Given the description of an element on the screen output the (x, y) to click on. 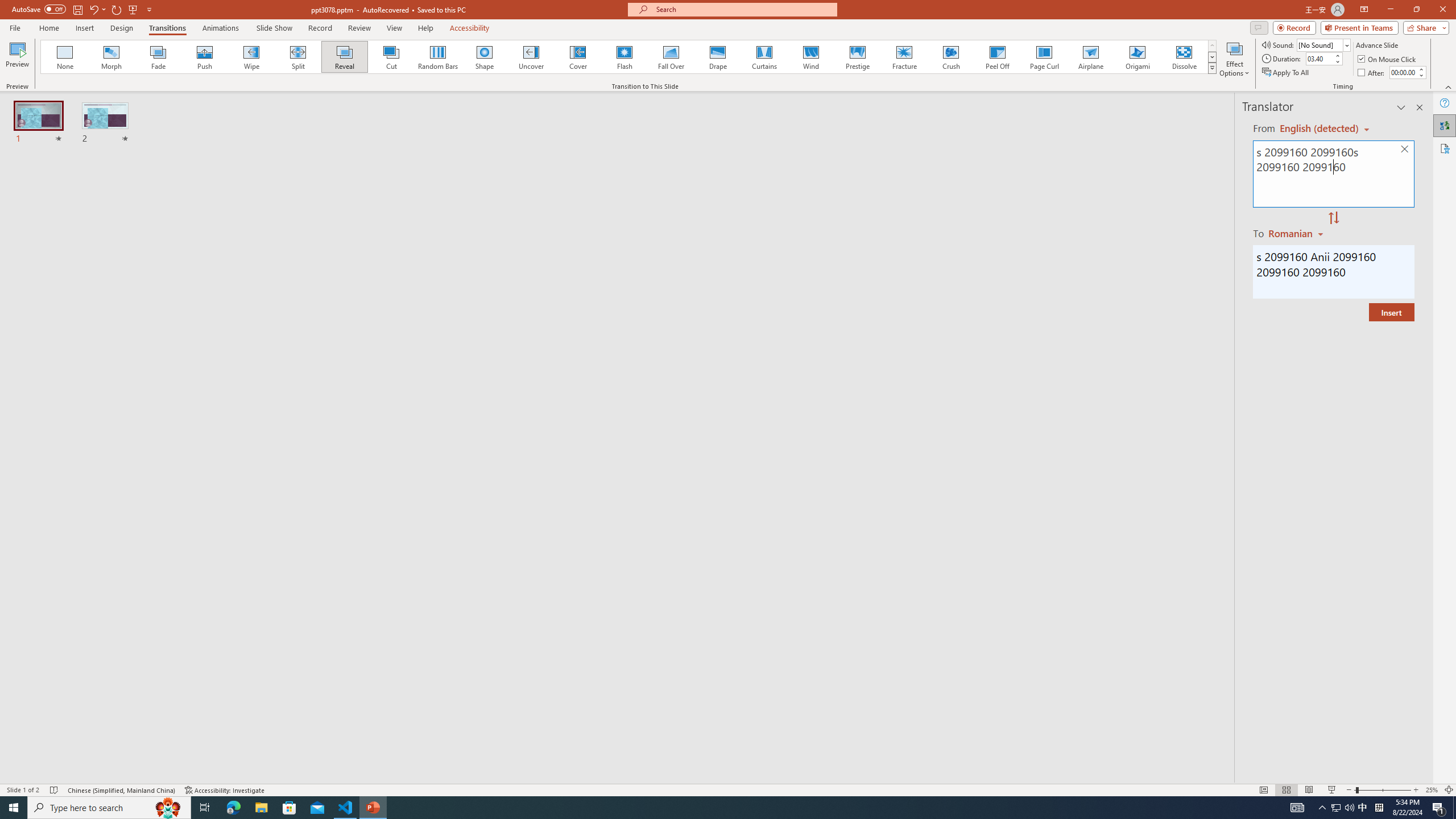
Wind (810, 56)
Uncover (531, 56)
Crush (950, 56)
After (1372, 72)
